Given the description of an element on the screen output the (x, y) to click on. 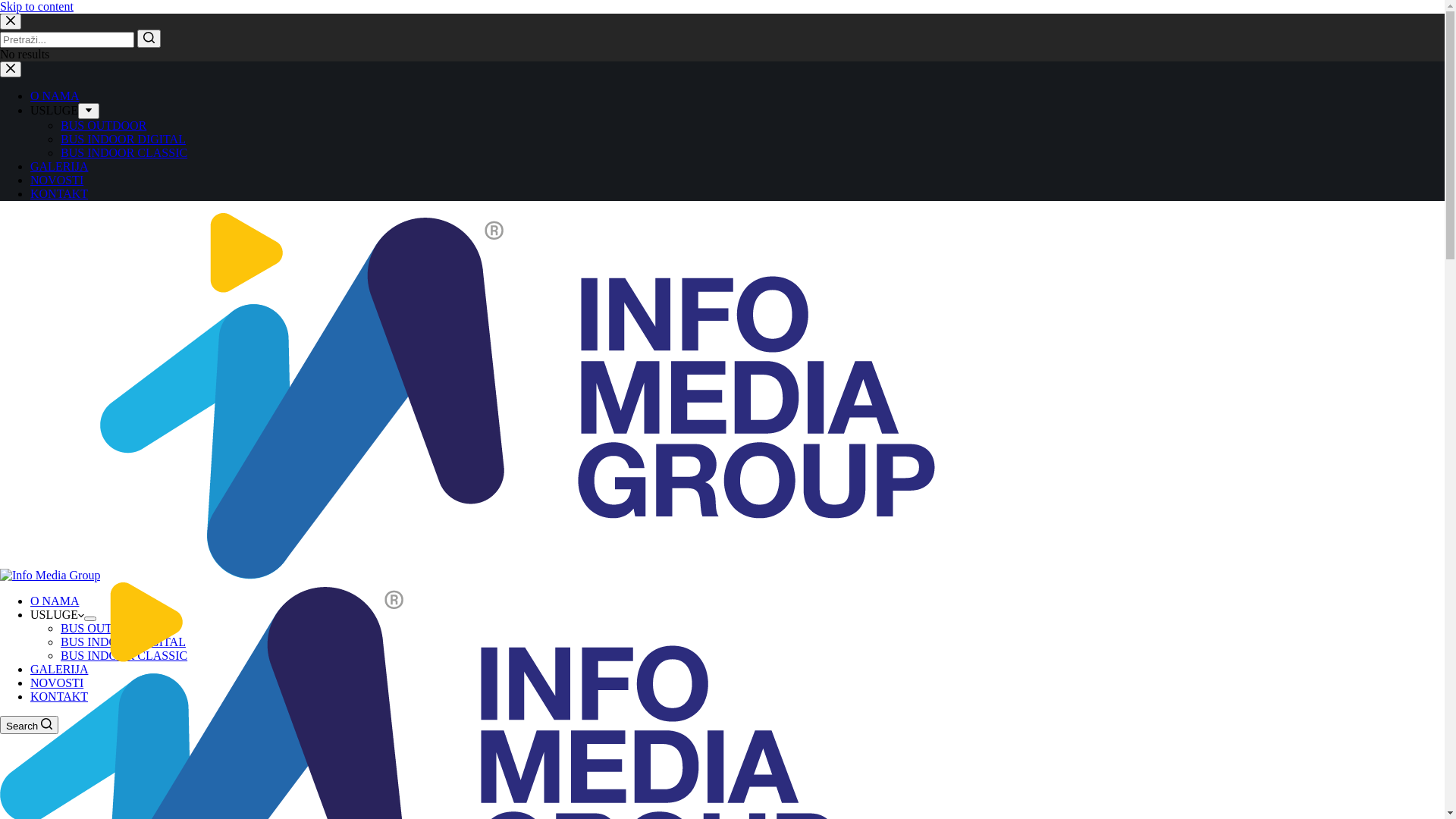
BUS OUTDOOR Element type: text (103, 627)
KONTAKT Element type: text (58, 696)
BUS OUTDOOR Element type: text (103, 125)
USLUGE Element type: text (54, 109)
KONTAKT Element type: text (58, 193)
O NAMA Element type: text (54, 600)
NOVOSTI Element type: text (56, 682)
Search for... Element type: hover (67, 39)
Search Element type: text (29, 724)
GALERIJA Element type: text (58, 166)
GALERIJA Element type: text (58, 668)
Skip to content Element type: text (36, 6)
BUS INDOOR CLASSIC Element type: text (123, 655)
BUS INDOOR DIGITAL Element type: text (122, 641)
O NAMA Element type: text (54, 95)
NOVOSTI Element type: text (56, 179)
BUS INDOOR DIGITAL Element type: text (122, 138)
USLUGE Element type: text (57, 614)
BUS INDOOR CLASSIC Element type: text (123, 152)
